Given the description of an element on the screen output the (x, y) to click on. 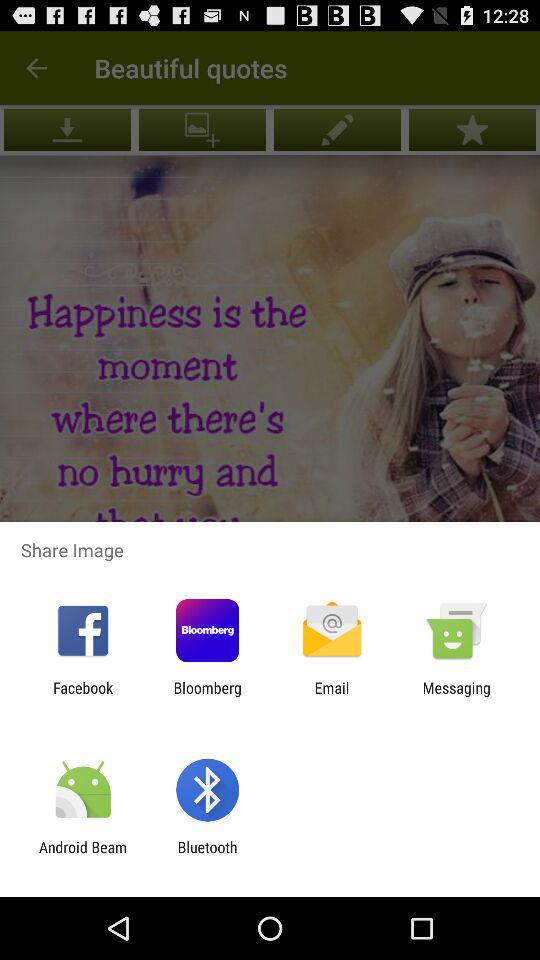
open app next to bloomberg item (83, 696)
